Given the description of an element on the screen output the (x, y) to click on. 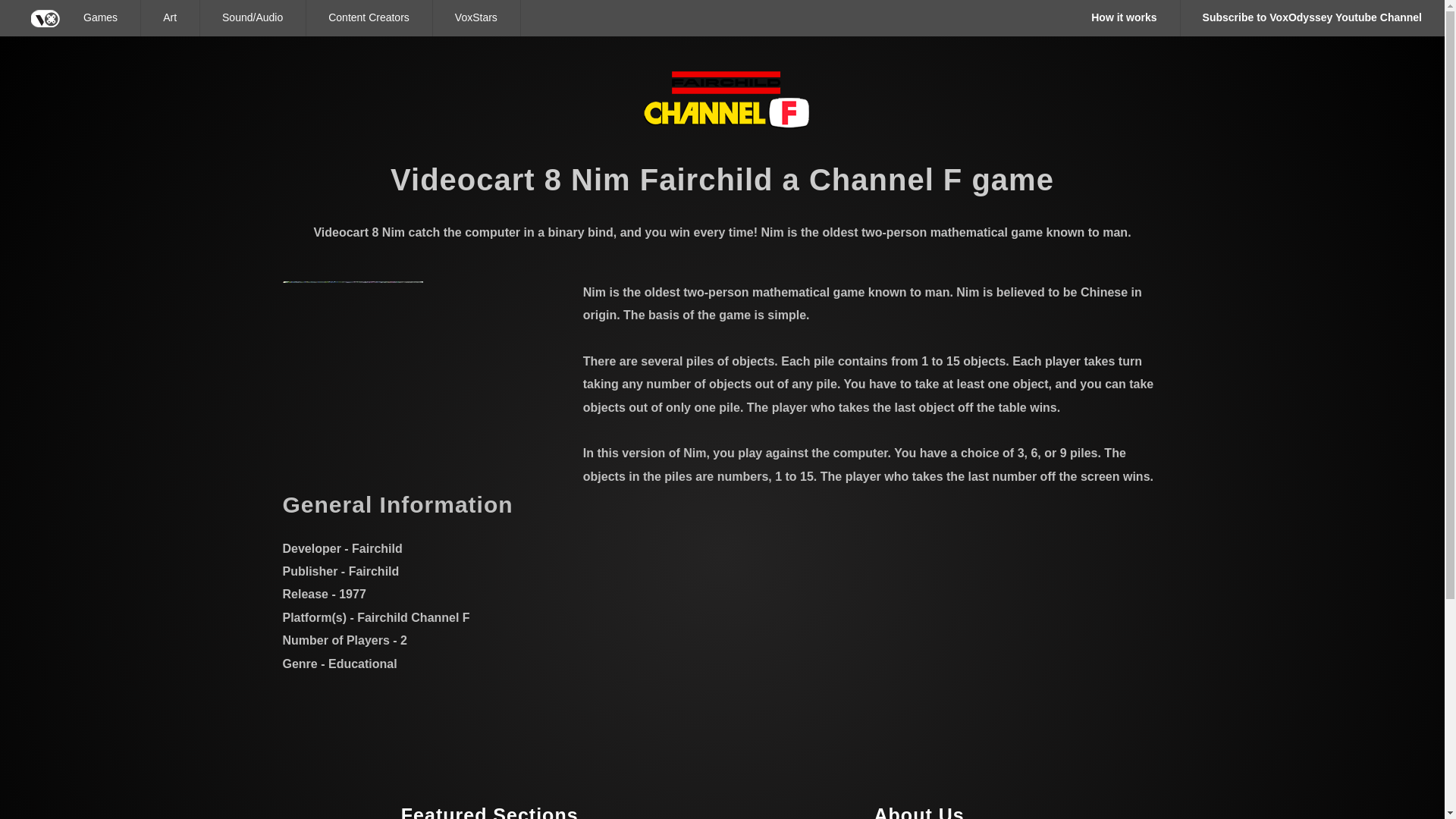
VoxStars (475, 18)
Games (100, 18)
How it works (1123, 18)
Content Creators (368, 18)
Art (169, 18)
